Given the description of an element on the screen output the (x, y) to click on. 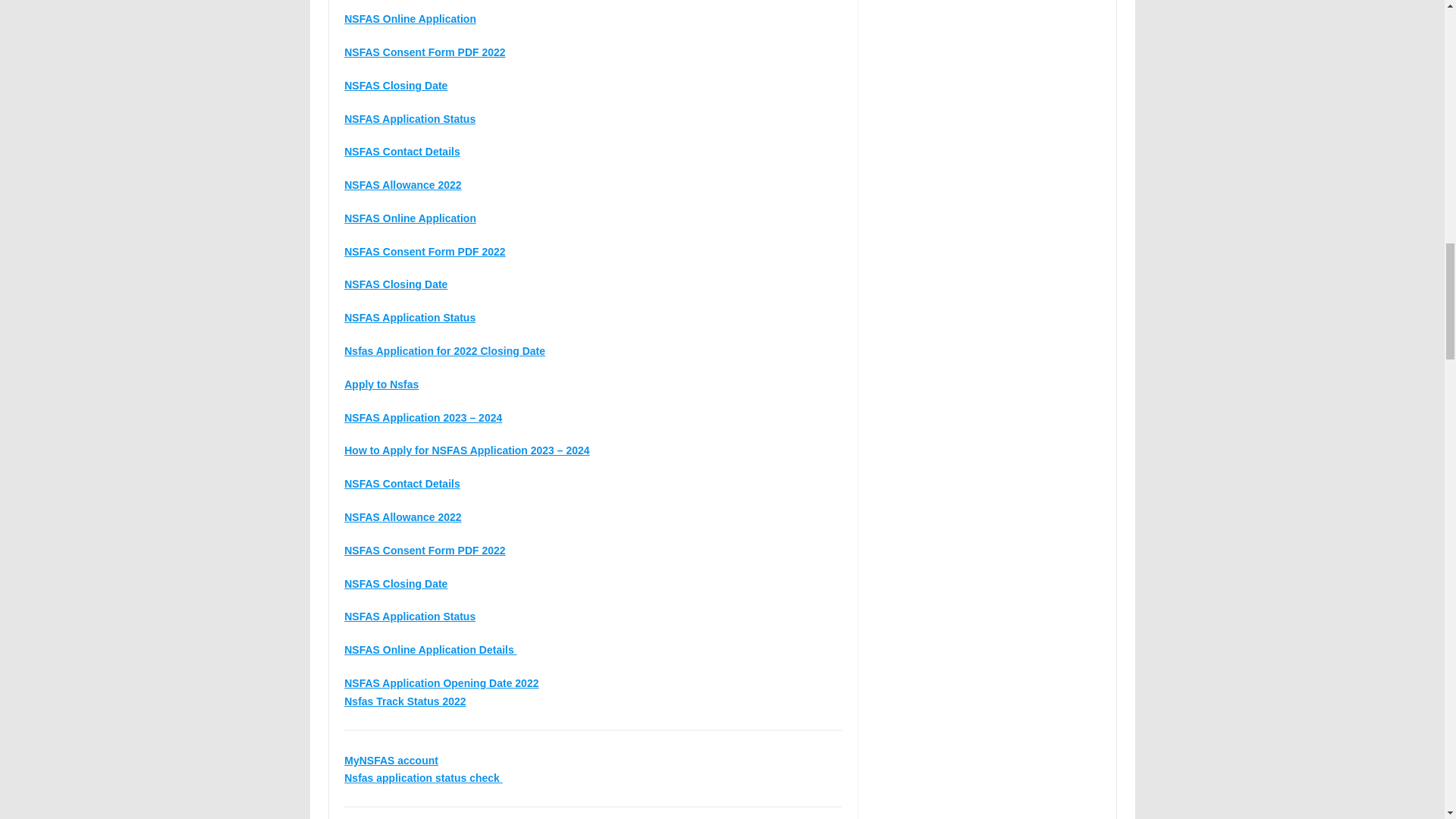
Nsfas Application for 2022 Closing Date (443, 350)
NSFAS Application Status (409, 317)
NSFAS Closing Date (394, 284)
NSFAS Consent Form PDF 2022 (424, 51)
NSFAS Application Status (409, 616)
NSFAS Online Application (409, 19)
NSFAS Allowance 2022 (402, 184)
NSFAS Online Application Details  (429, 649)
NSFAS Closing Date (394, 583)
NSFAS Application Status (409, 118)
NSFAS Closing Date (394, 85)
NSFAS Contact Details (401, 483)
Nsfas Track Status 2022 (404, 701)
NSFAS Contact Details (401, 151)
Apply to Nsfas (381, 384)
